Given the description of an element on the screen output the (x, y) to click on. 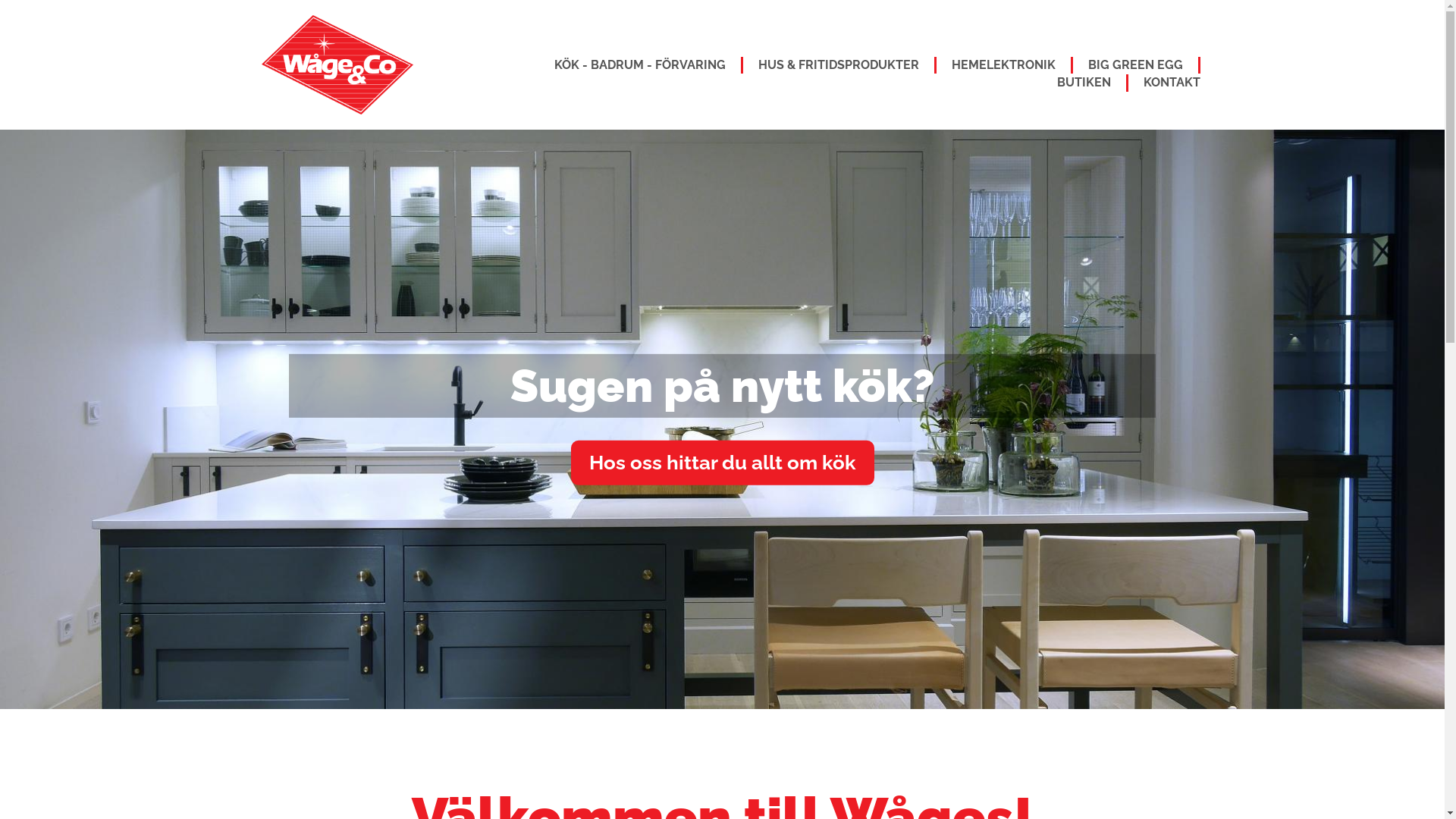
KONTAKT Element type: text (1171, 82)
BIG GREEN EGG Element type: text (1134, 64)
HEMELEKTRONIK Element type: text (1002, 64)
BUTIKEN Element type: text (1083, 82)
HUS & FRITIDSPRODUKTER Element type: text (838, 64)
